Given the description of an element on the screen output the (x, y) to click on. 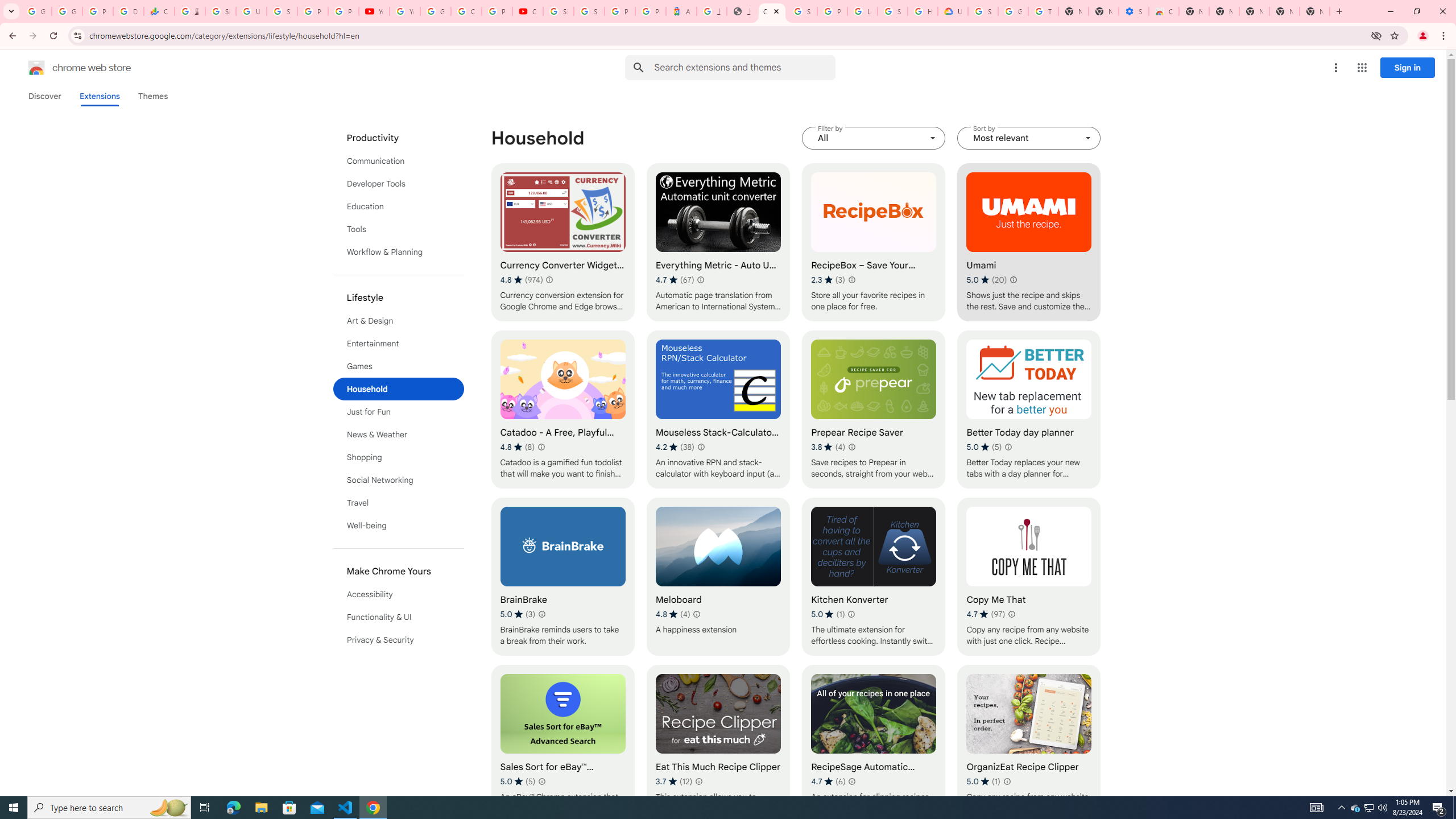
Social Networking (398, 479)
Filter by All (874, 137)
Umami (1028, 241)
Average rating 4.8 out of 5 stars. 8 ratings. (517, 446)
Average rating 4.2 out of 5 stars. 38 ratings. (674, 446)
Developer Tools (398, 182)
Currencies - Google Finance (158, 11)
Learn more about results and reviews "Kitchen Konverter" (850, 613)
